Given the description of an element on the screen output the (x, y) to click on. 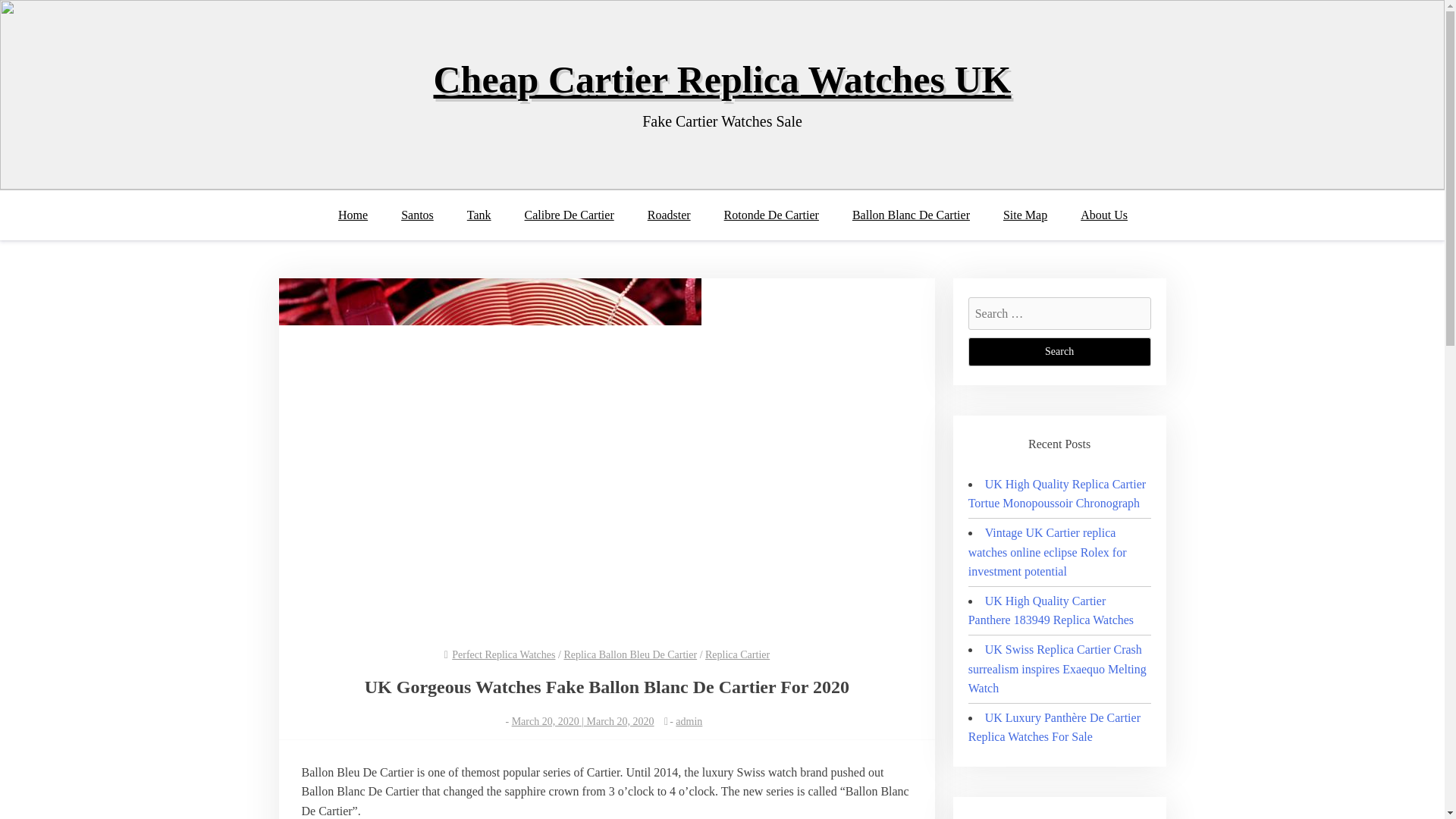
admin (688, 721)
Replica Cartier (737, 654)
Roadster (668, 215)
UK High Quality Cartier Panthere 183949 Replica Watches (1051, 610)
Home (359, 215)
Search (1059, 351)
Site Map (1025, 215)
Search (1059, 351)
Ballon Blanc De Cartier (911, 215)
Perfect Replica Watches (502, 654)
Replica Ballon Bleu De Cartier (630, 654)
Santos (416, 215)
Cheap Cartier Replica Watches UK (722, 79)
